Given the description of an element on the screen output the (x, y) to click on. 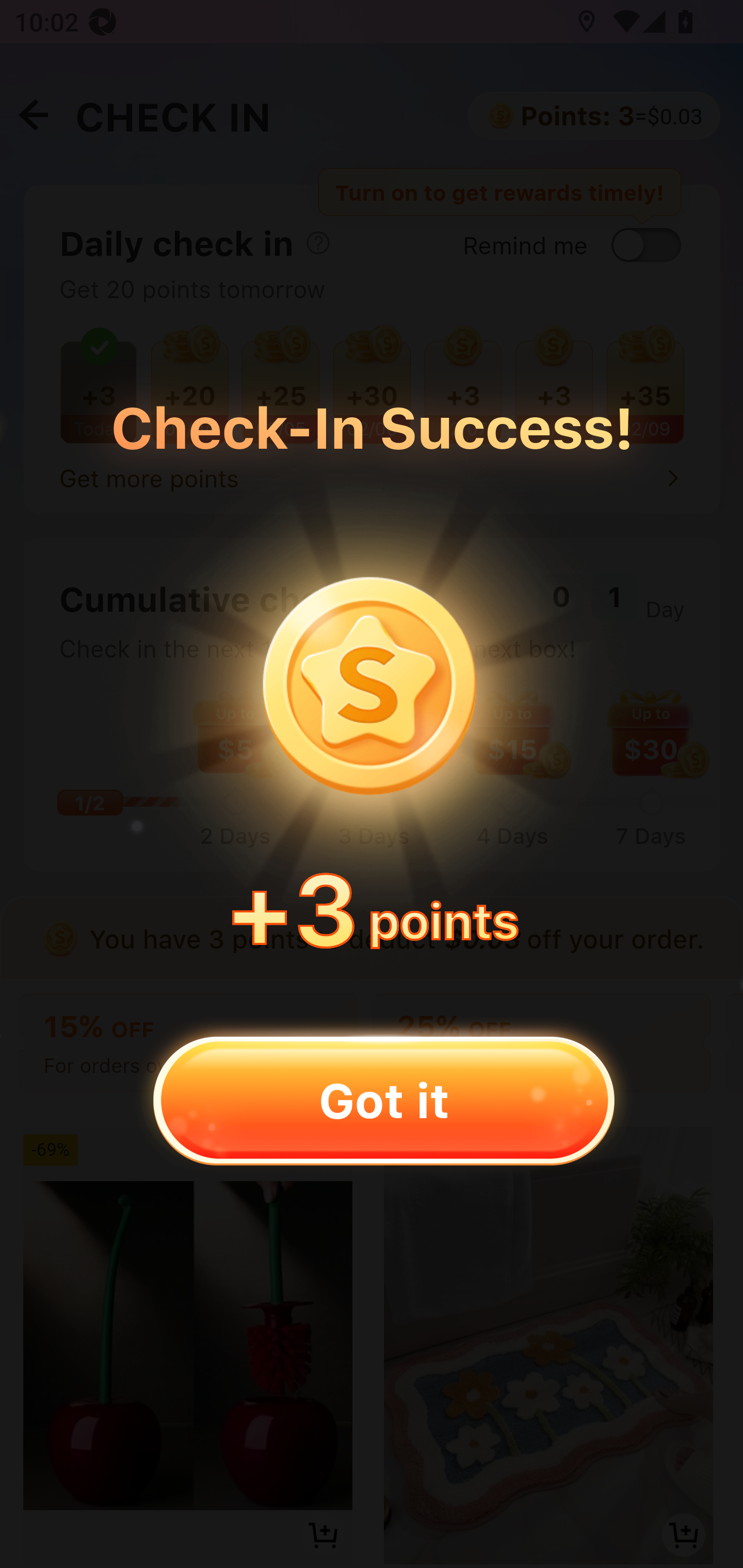
Got it (383, 1099)
